Given the description of an element on the screen output the (x, y) to click on. 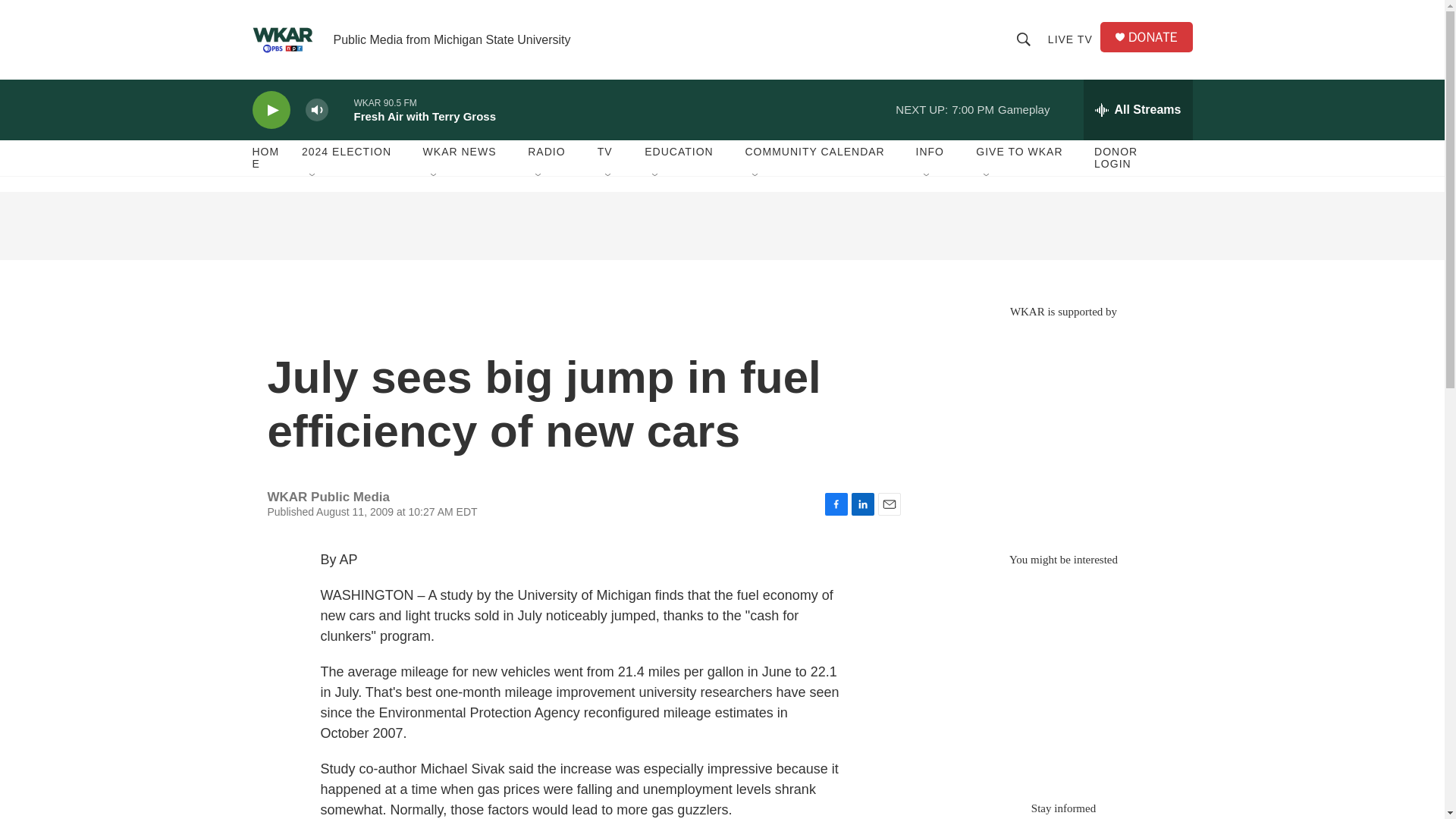
3rd party ad content (1062, 428)
3rd party ad content (721, 225)
3rd party ad content (1062, 677)
